Given the description of an element on the screen output the (x, y) to click on. 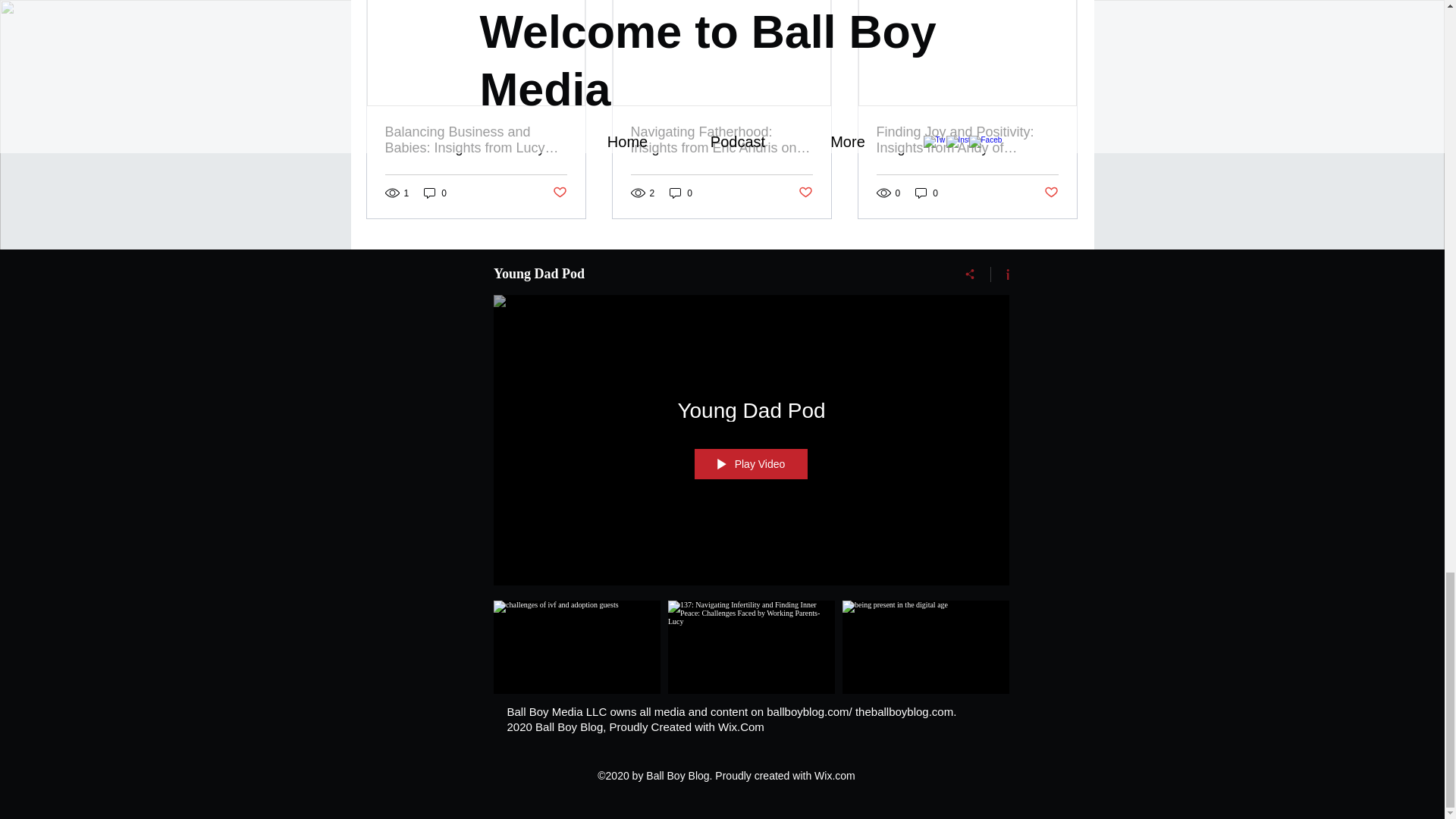
Post not marked as liked (804, 192)
Post not marked as liked (558, 192)
Young Dad Pod (750, 410)
0 (435, 192)
0 (681, 192)
Young Dad Pod (713, 273)
